Given the description of an element on the screen output the (x, y) to click on. 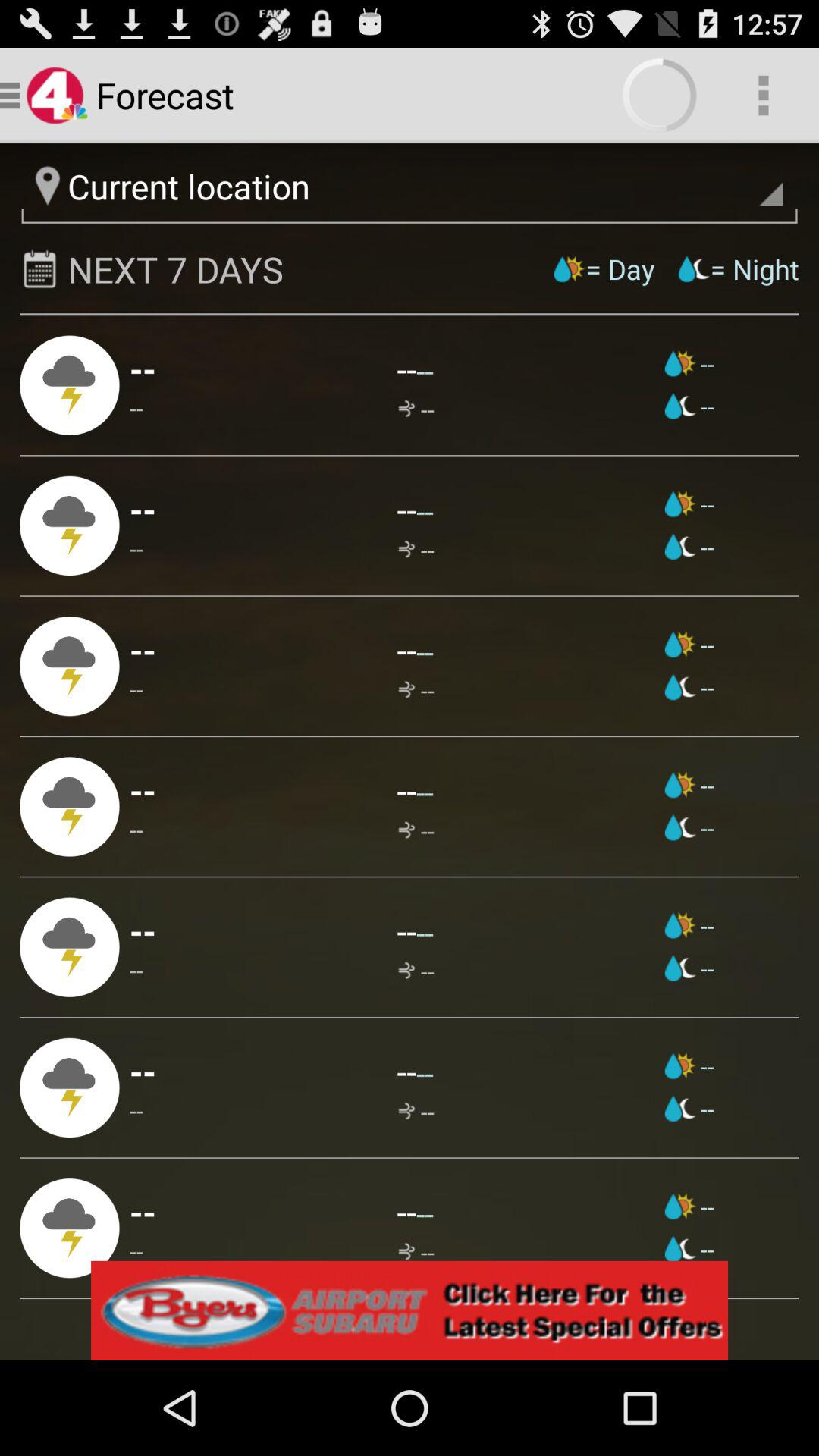
swipe to -- app (406, 509)
